Given the description of an element on the screen output the (x, y) to click on. 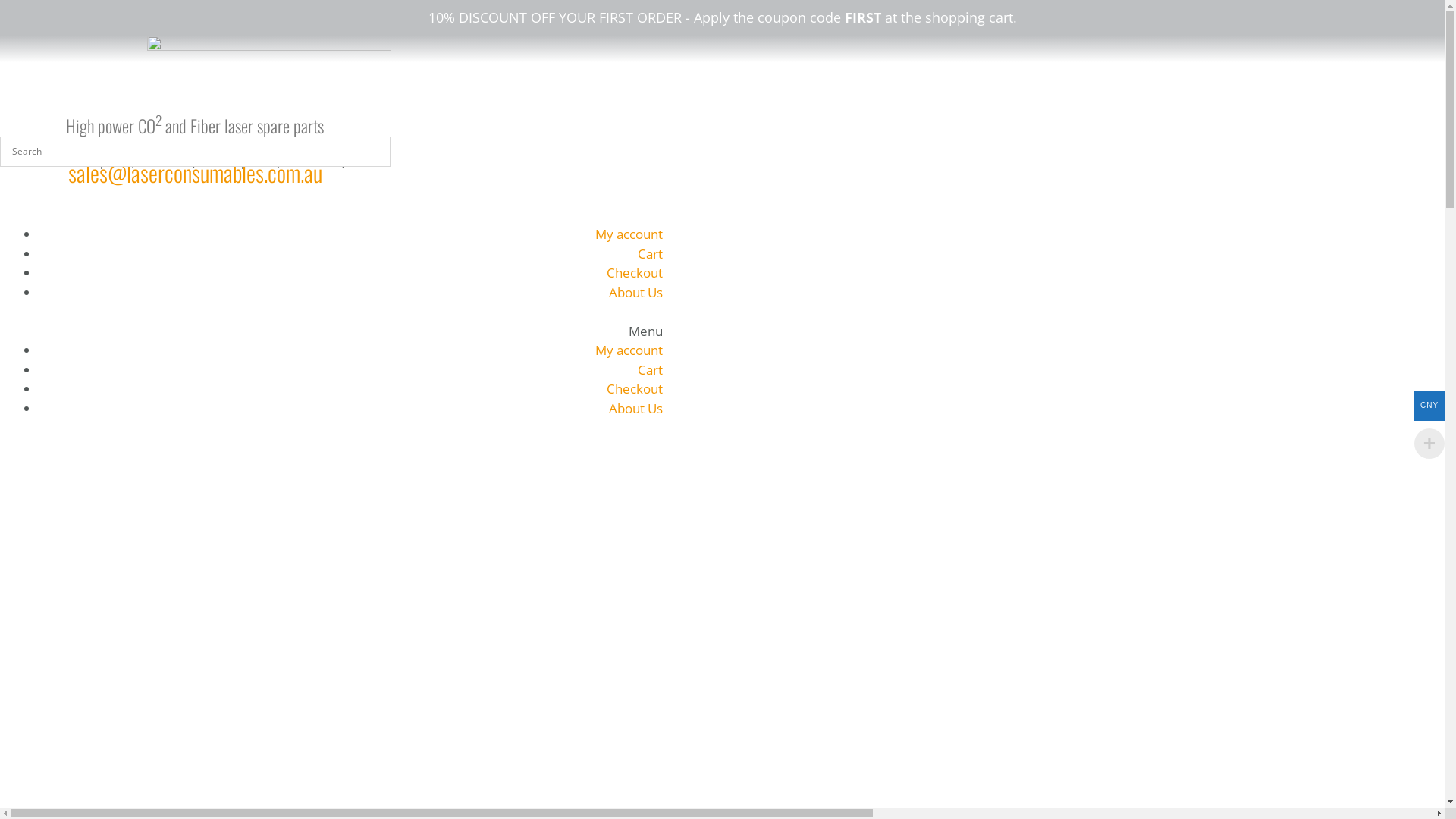
Cart Element type: text (649, 253)
Cart Element type: text (649, 369)
sales@laserconsumables.com.au Element type: text (195, 172)
Checkout Element type: text (634, 388)
My account Element type: text (628, 349)
My account Element type: text (628, 233)
Checkout Element type: text (634, 272)
About Us Element type: text (635, 408)
About Us Element type: text (635, 292)
